Given the description of an element on the screen output the (x, y) to click on. 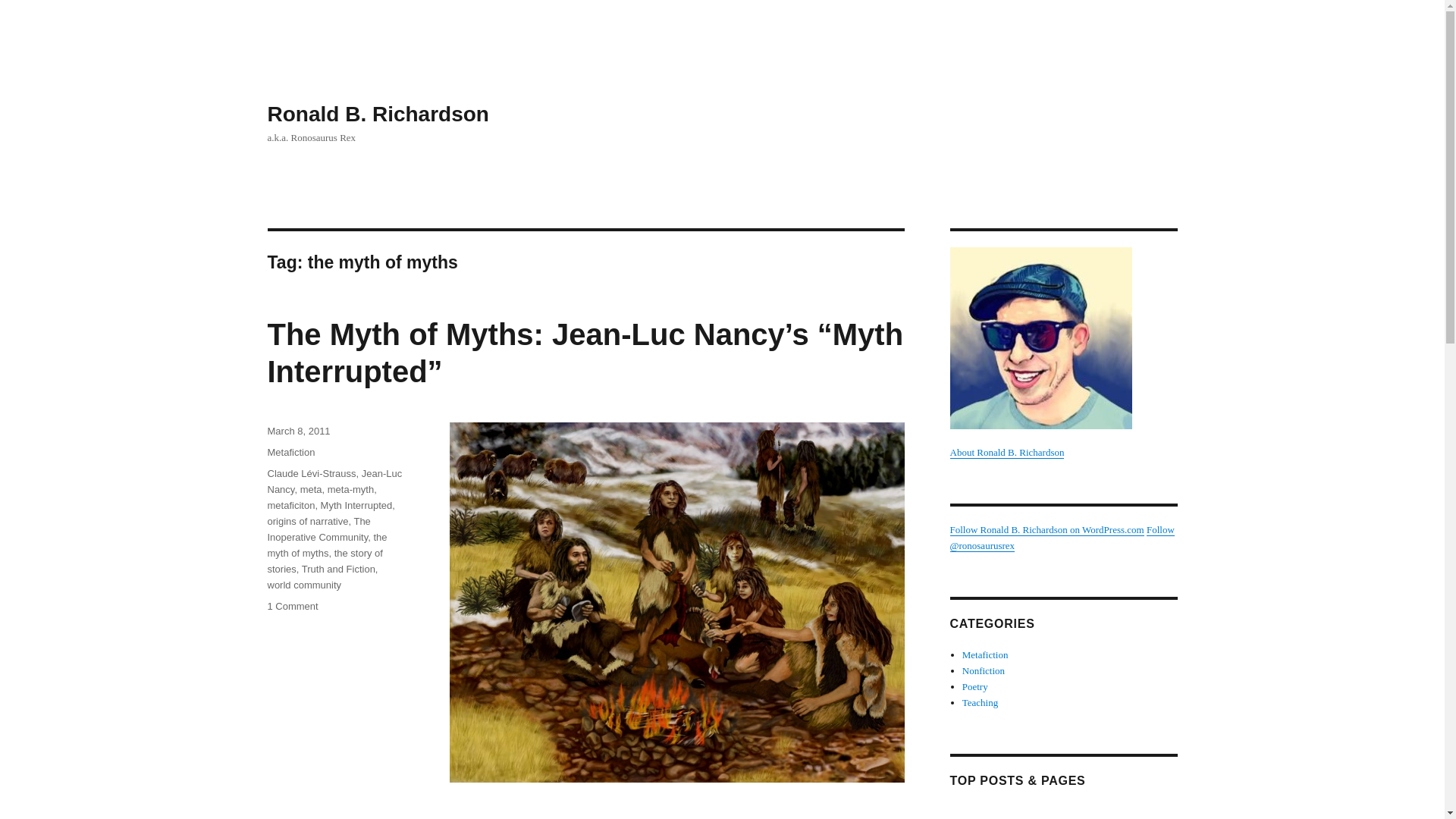
the story of stories (323, 560)
A Rain of Ink: Metafiction in Charles Dicken's Bleak House (1067, 812)
Nonfiction (983, 670)
metaficiton (290, 505)
March 8, 2011 (298, 430)
origins of narrative (306, 521)
Metafiction (290, 451)
About Ronald B. Richardson (1062, 352)
Jean-Luc Nancy (333, 481)
meta-myth (350, 489)
